Given the description of an element on the screen output the (x, y) to click on. 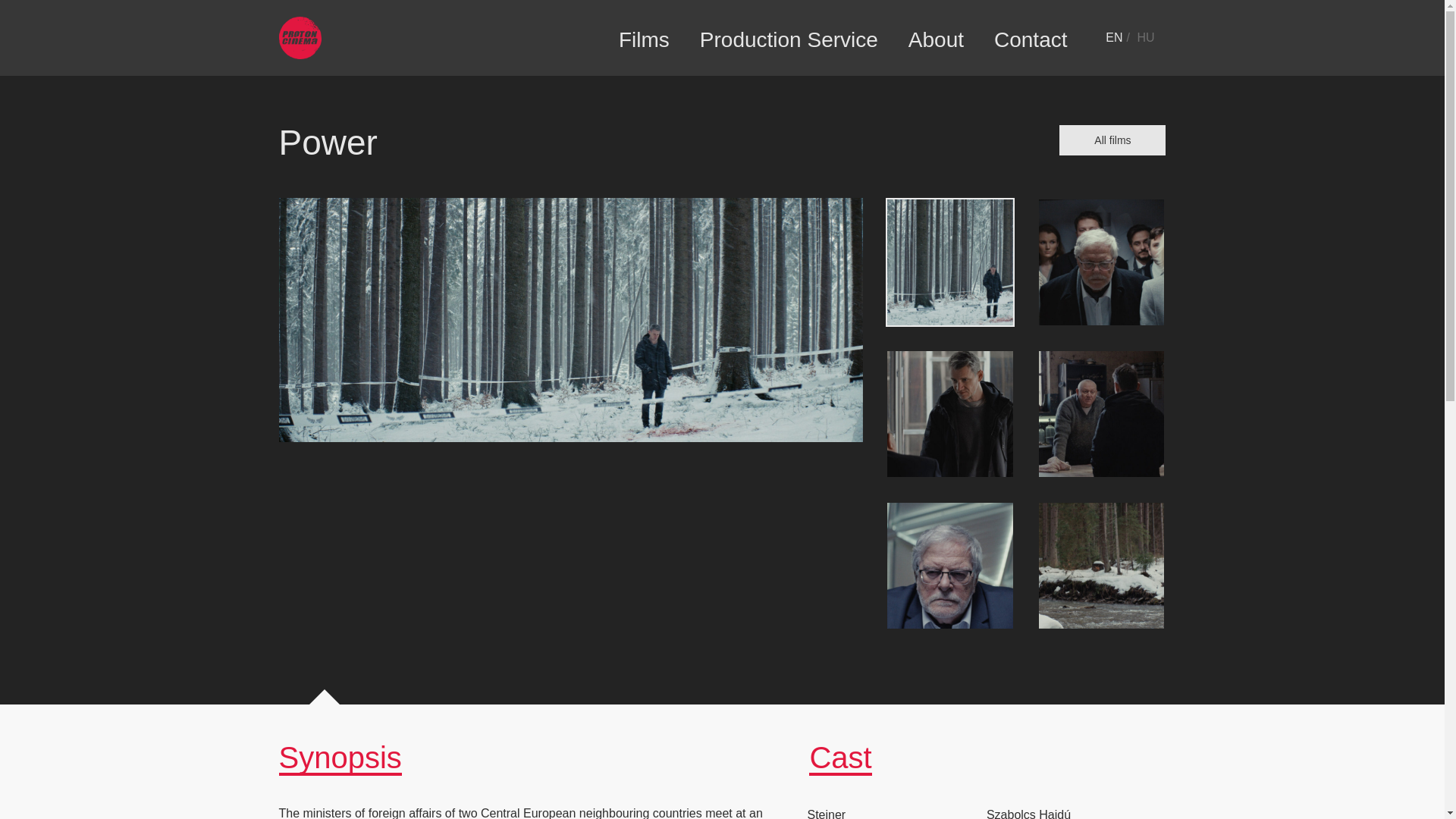
All films (1112, 140)
Proton Cinema (300, 54)
Production Service (788, 38)
Contact (1030, 38)
